Given the description of an element on the screen output the (x, y) to click on. 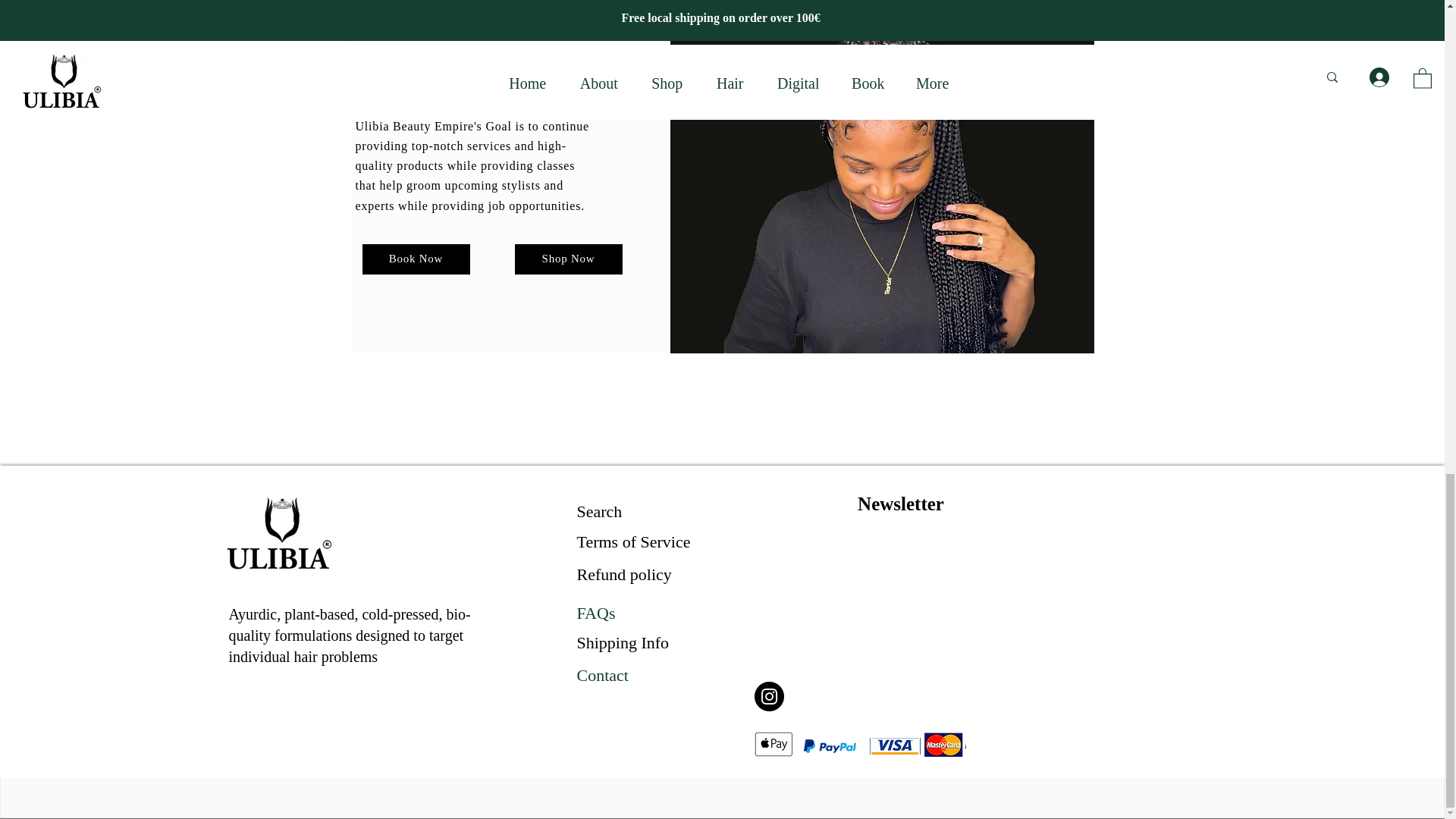
Contact (601, 674)
Refund policy (623, 574)
Terms of Service (633, 541)
FAQs (595, 612)
Search (598, 511)
Shop Now (567, 259)
Book Now (416, 259)
